Given the description of an element on the screen output the (x, y) to click on. 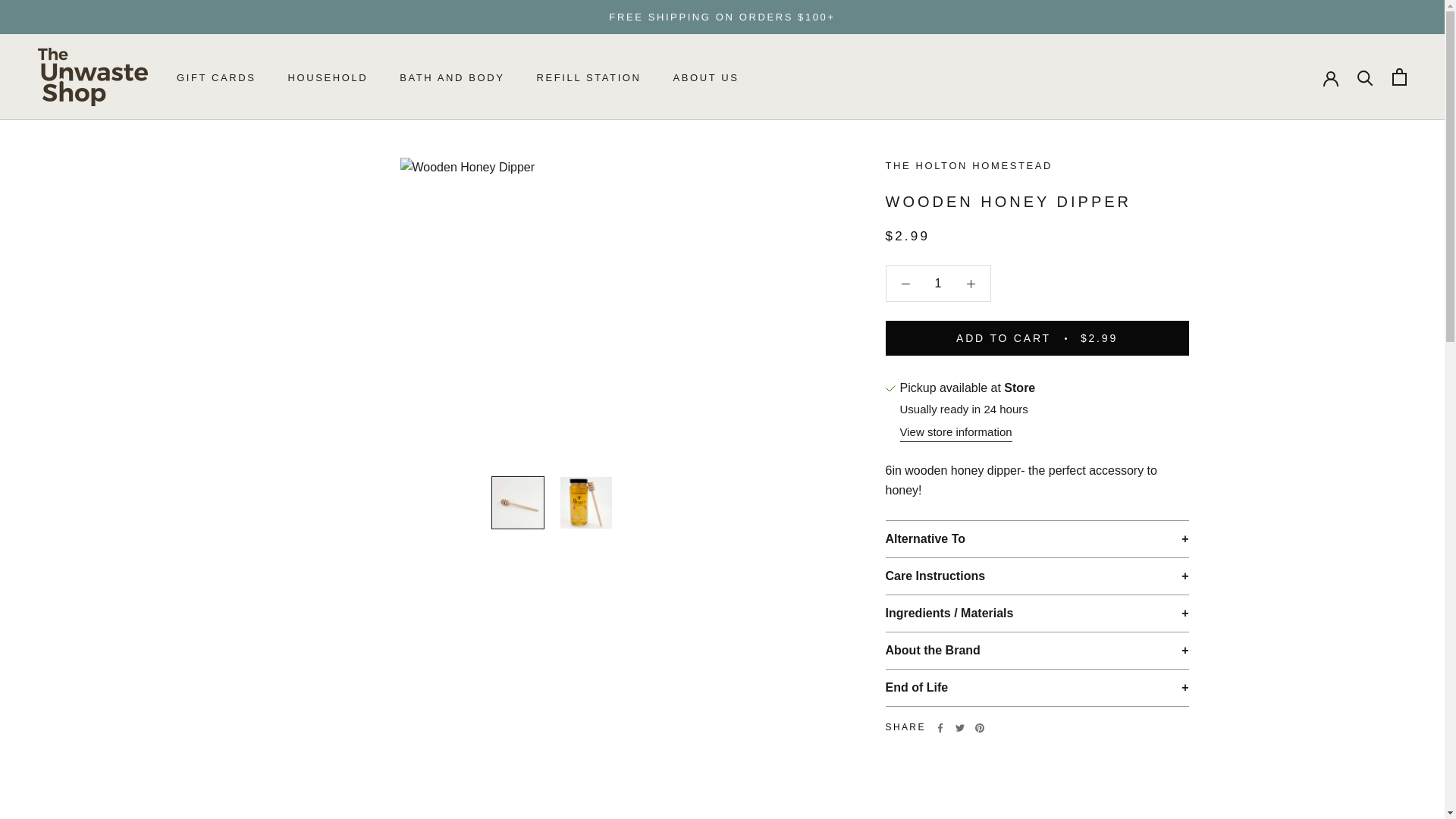
HOUSEHOLD (328, 77)
1 (216, 77)
